Given the description of an element on the screen output the (x, y) to click on. 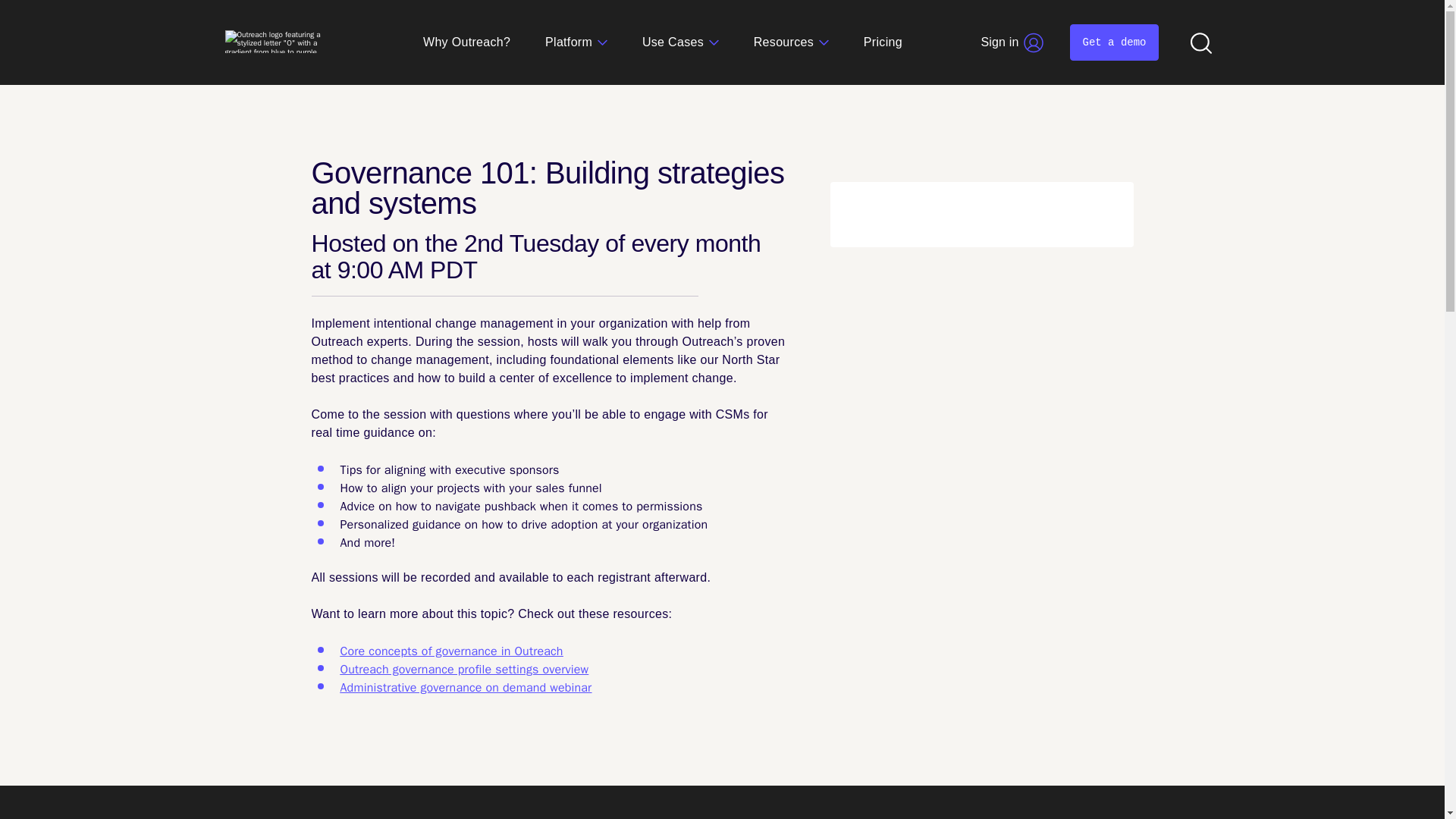
Platform (575, 42)
Outreach governance profile settings overview (463, 669)
Sign in (1012, 42)
Resources (791, 42)
Administrative governance on demand webinar (465, 687)
Pricing (882, 42)
Why Outreach? (467, 42)
Get a demo (1113, 42)
Core concepts of governance in Outreach (450, 651)
Use Cases (680, 42)
